Given the description of an element on the screen output the (x, y) to click on. 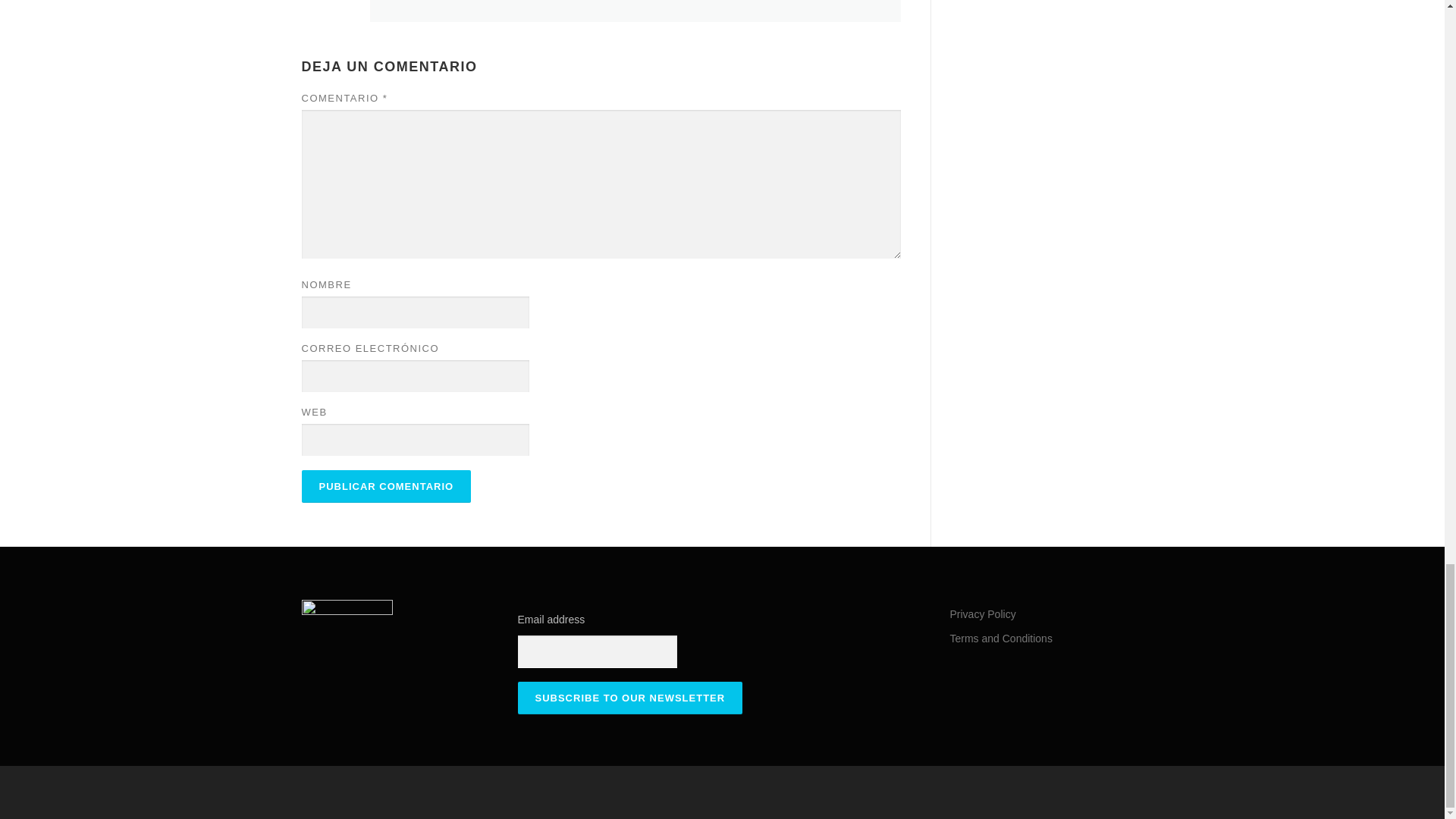
Privacy Policy (981, 613)
Publicar comentario (386, 486)
Terms and Conditions (1000, 638)
Subscribe to our Newsletter (629, 697)
Subscribe to our Newsletter (629, 697)
Publicar comentario (386, 486)
